Given the description of an element on the screen output the (x, y) to click on. 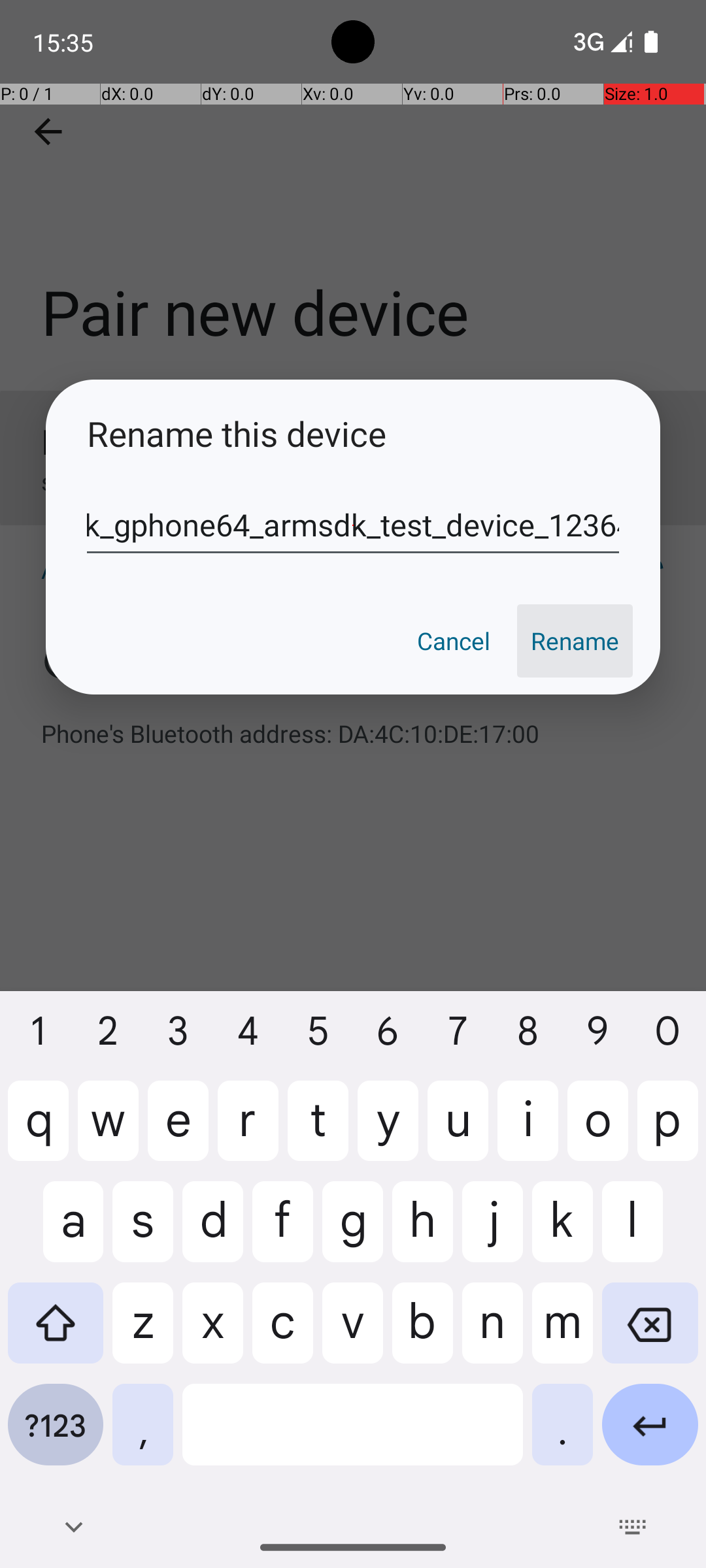
Rename this device Element type: android.widget.TextView (352, 433)
sdk_gphone64_armsdk_test_device_12364 Element type: android.widget.EditText (352, 525)
Rename Element type: android.widget.Button (574, 640)
